Given the description of an element on the screen output the (x, y) to click on. 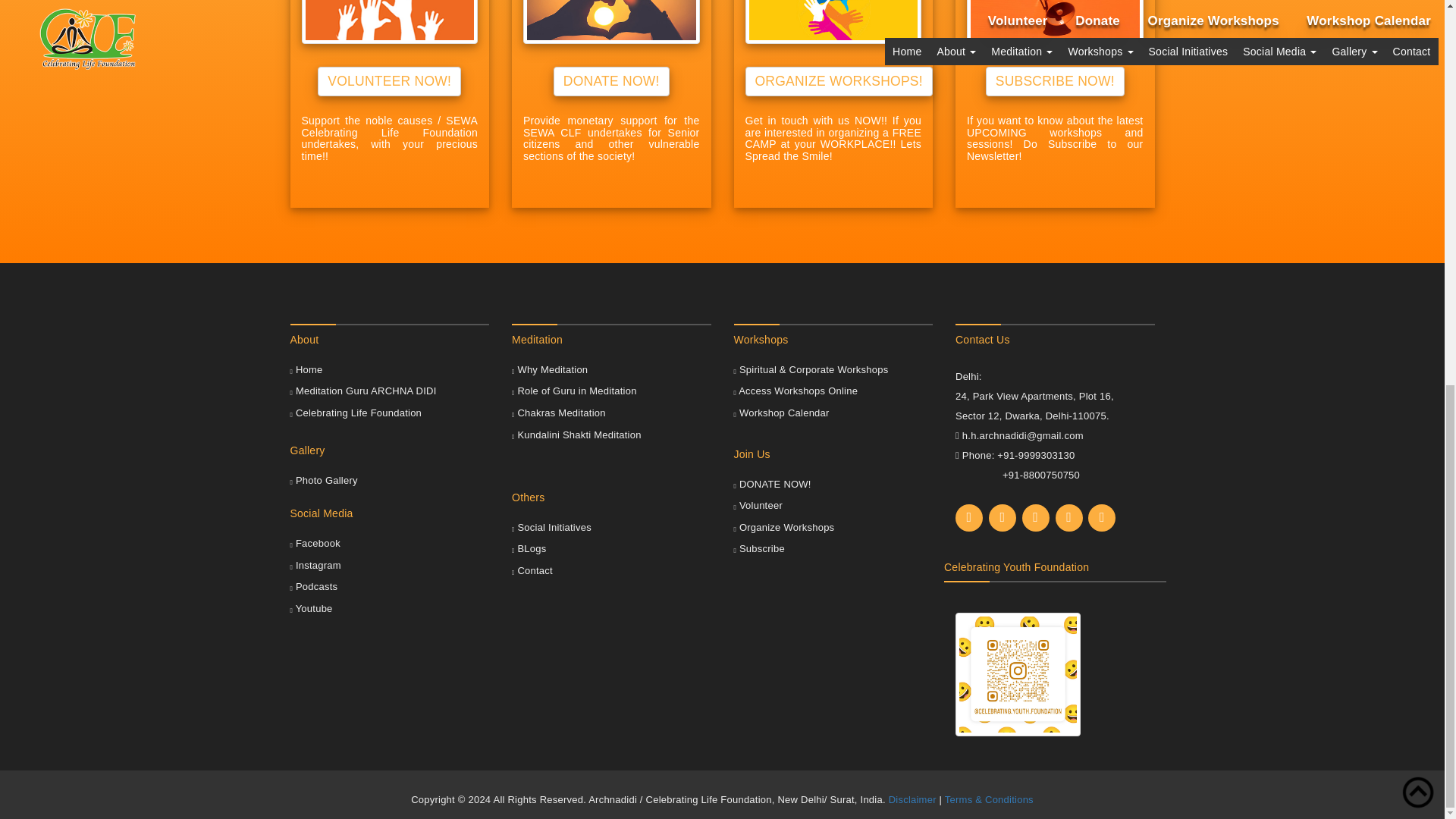
SUBSCRIBE NOW! (1054, 81)
Meditation Guru ARCHNA DIDI (362, 390)
Gallery (389, 451)
DONATE NOW! (611, 81)
About (389, 347)
Celebrating Life Foundation (355, 412)
VOLUNTEER NOW! (389, 81)
ORGANIZE WORKSHOPS! (837, 81)
Home (305, 369)
